Given the description of an element on the screen output the (x, y) to click on. 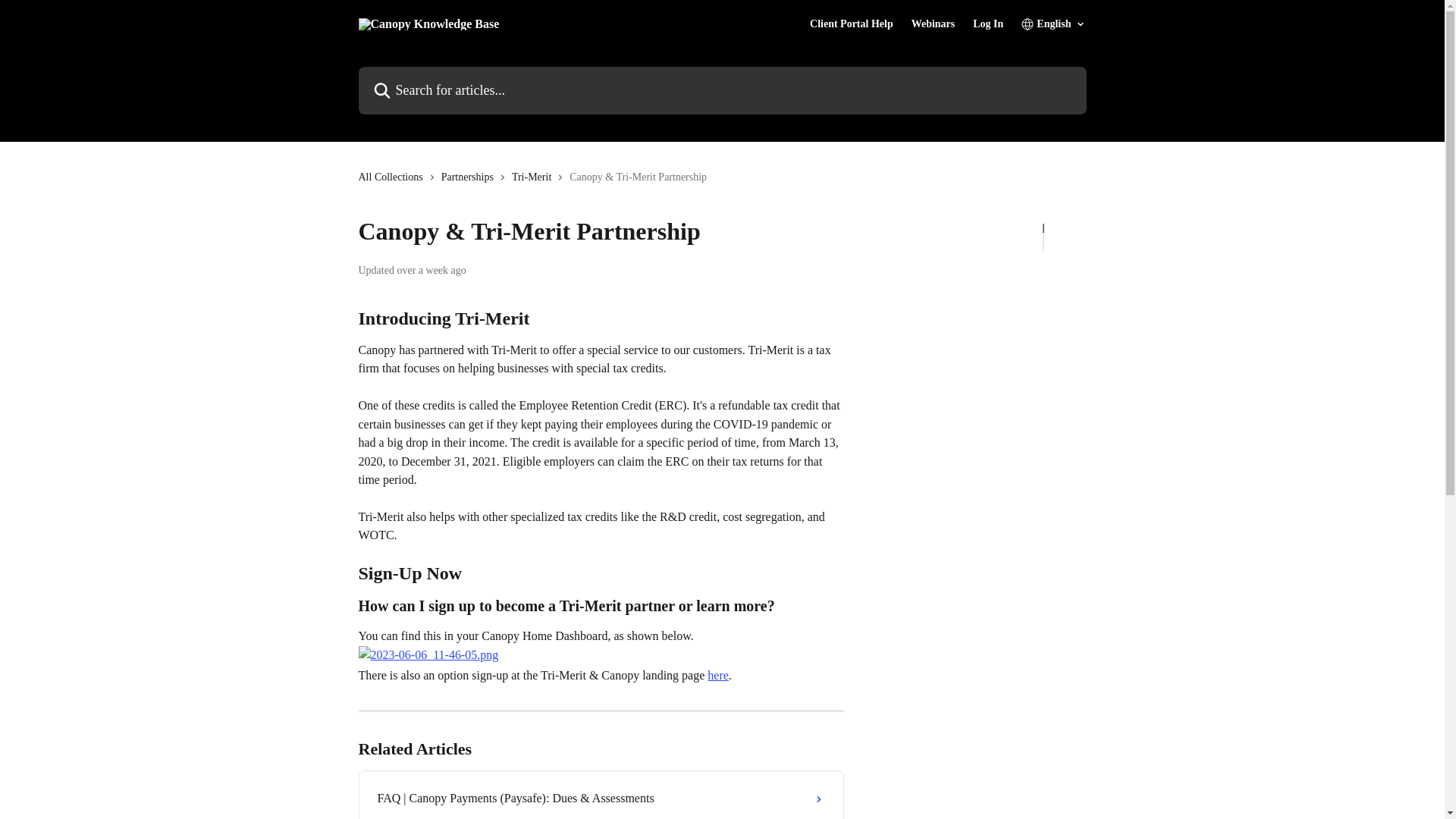
here (718, 675)
Client Portal Help (851, 23)
Webinars (933, 23)
Log In (987, 23)
Partnerships (470, 176)
Tri-Merit (534, 176)
All Collections (393, 176)
